Given the description of an element on the screen output the (x, y) to click on. 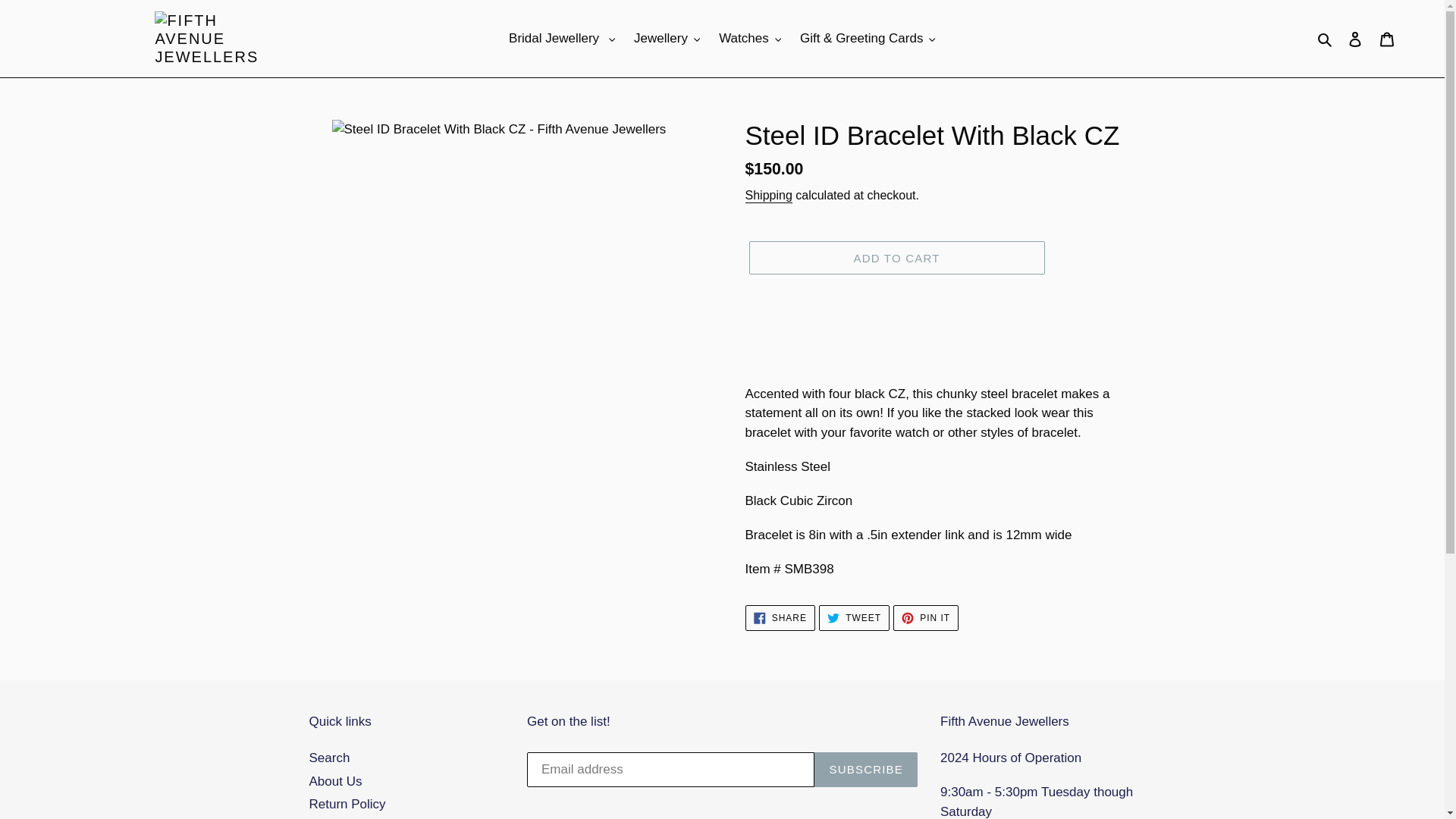
Cart (1387, 38)
Bridal Jewellery (561, 38)
Watches (750, 38)
Search (1326, 38)
Log in (1355, 38)
Jewellery (666, 38)
